Given the description of an element on the screen output the (x, y) to click on. 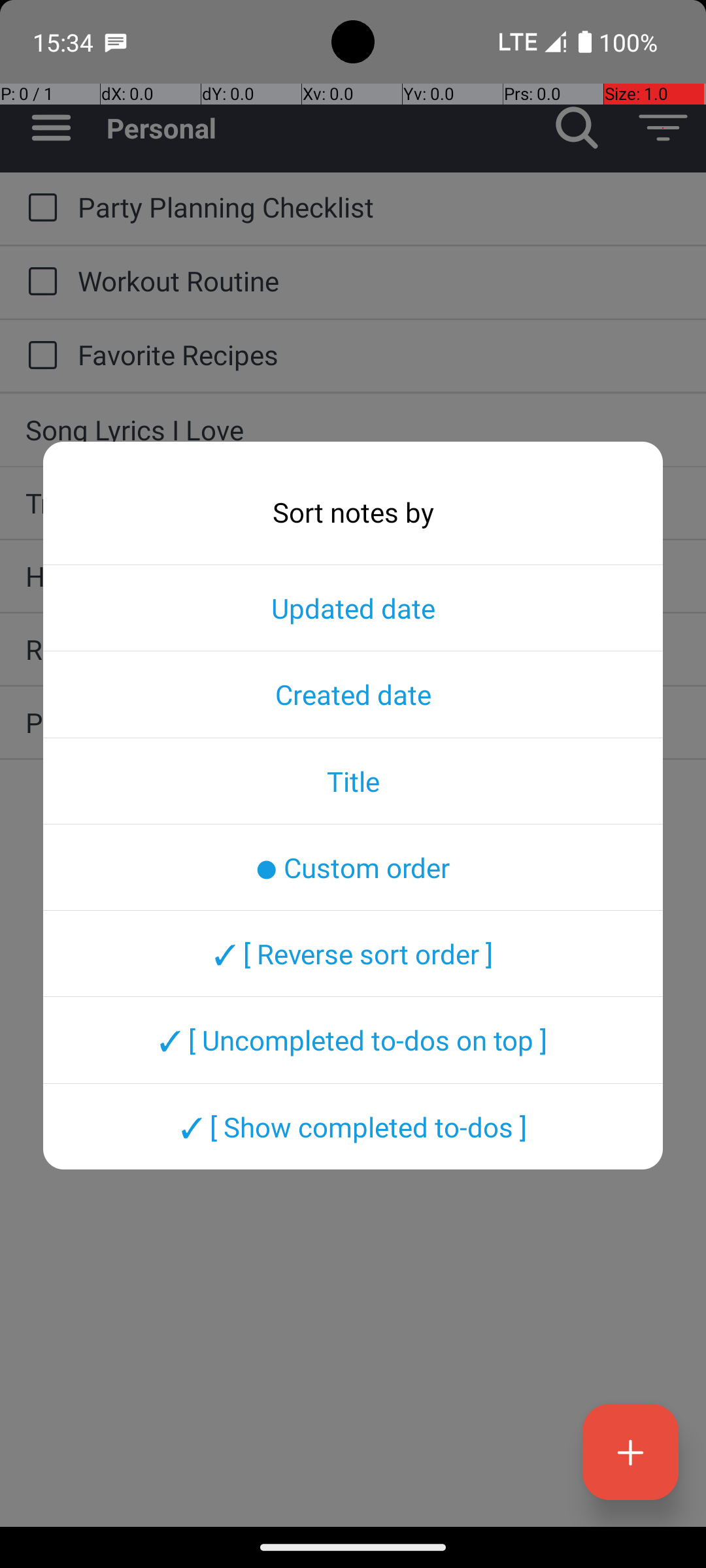
Updated date Element type: android.widget.TextView (352, 607)
Created date Element type: android.widget.TextView (352, 693)
⬤ Custom order Element type: android.widget.TextView (352, 866)
✓ [ Reverse sort order ] Element type: android.widget.TextView (352, 953)
✓ [ Uncompleted to-dos on top ] Element type: android.widget.TextView (352, 1039)
✓ [ Show completed to-dos ] Element type: android.widget.TextView (352, 1126)
to-do: Party Planning Checklist Element type: android.widget.CheckBox (38, 208)
Party Planning Checklist Element type: android.widget.TextView (378, 206)
to-do: Workout Routine Element type: android.widget.CheckBox (38, 282)
Workout Routine Element type: android.widget.TextView (378, 280)
to-do: Favorite Recipes Element type: android.widget.CheckBox (38, 356)
Favorite Recipes Element type: android.widget.TextView (378, 354)
Song Lyrics I Love Element type: android.widget.TextView (352, 429)
Travel Itinerary for Japan Element type: android.widget.TextView (352, 502)
Home Improvement Projects Element type: android.widget.TextView (352, 575)
Random Thoughts Element type: android.widget.TextView (352, 648)
Personal Goals for the Year Element type: android.widget.TextView (352, 721)
